Given the description of an element on the screen output the (x, y) to click on. 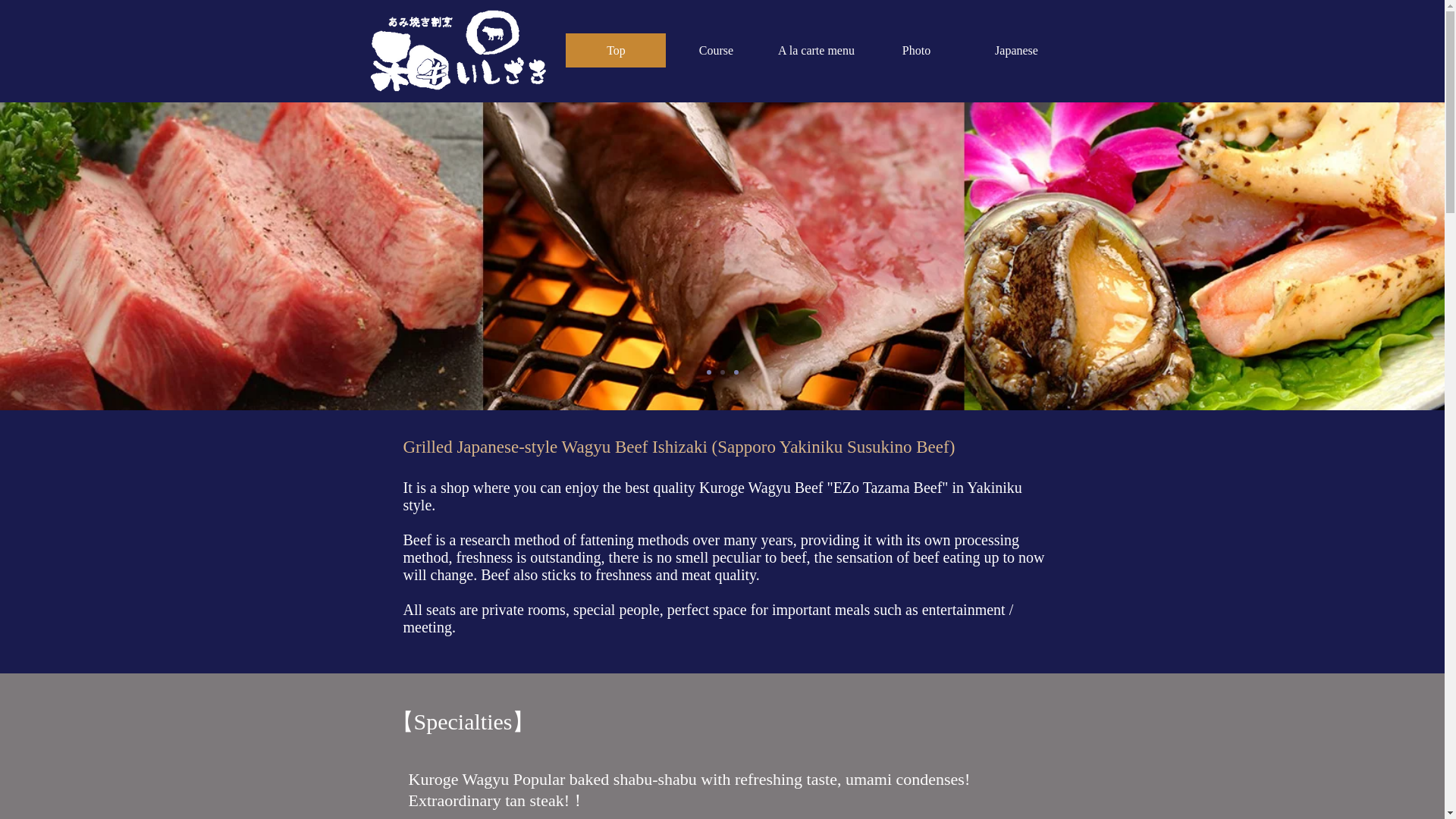
Course (715, 50)
Top (615, 50)
Photo (916, 50)
Japanese (1015, 50)
